Given the description of an element on the screen output the (x, y) to click on. 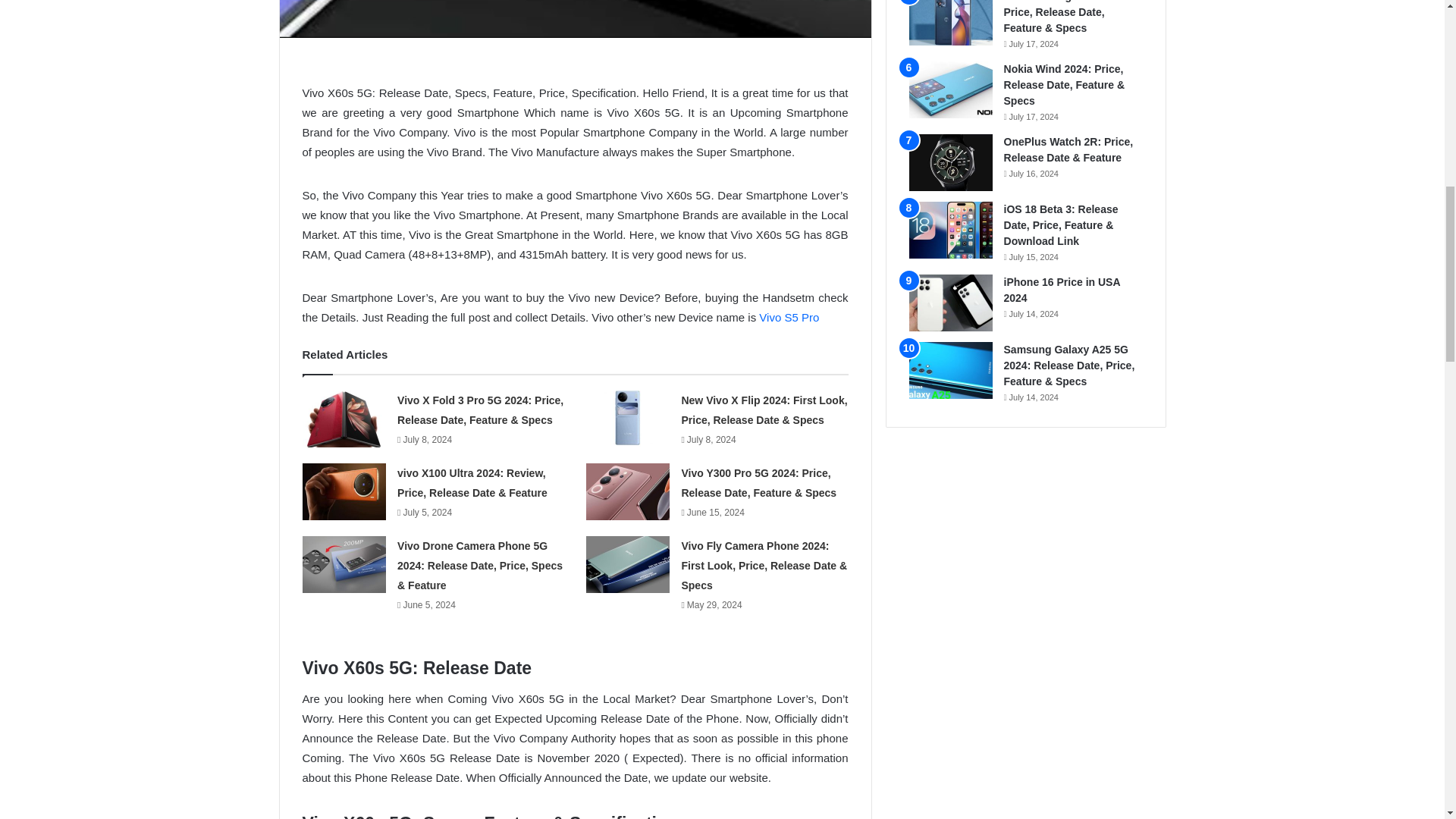
Vivo S5 Pro (788, 317)
